Given the description of an element on the screen output the (x, y) to click on. 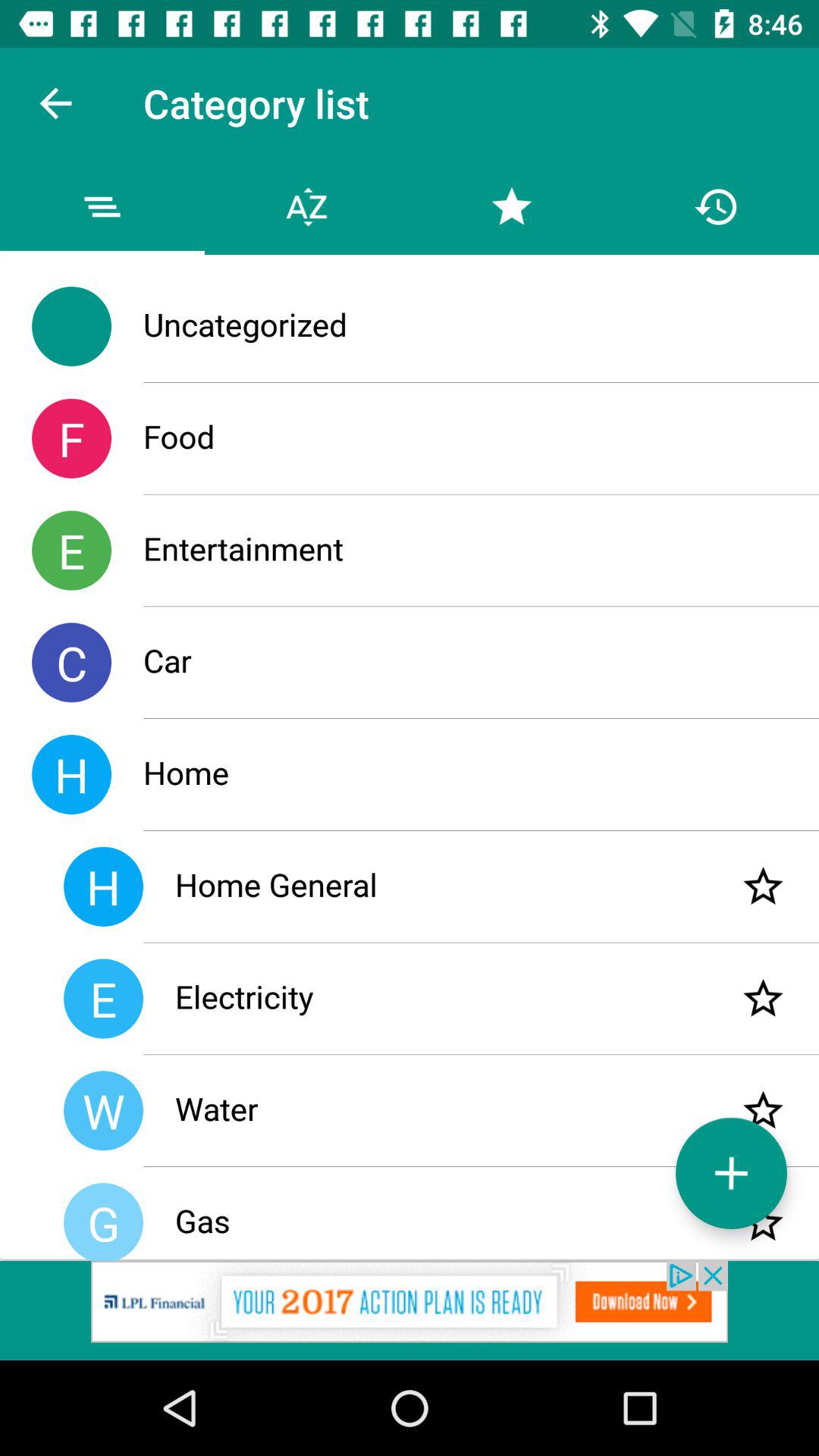
give advertisement information (409, 1310)
